Given the description of an element on the screen output the (x, y) to click on. 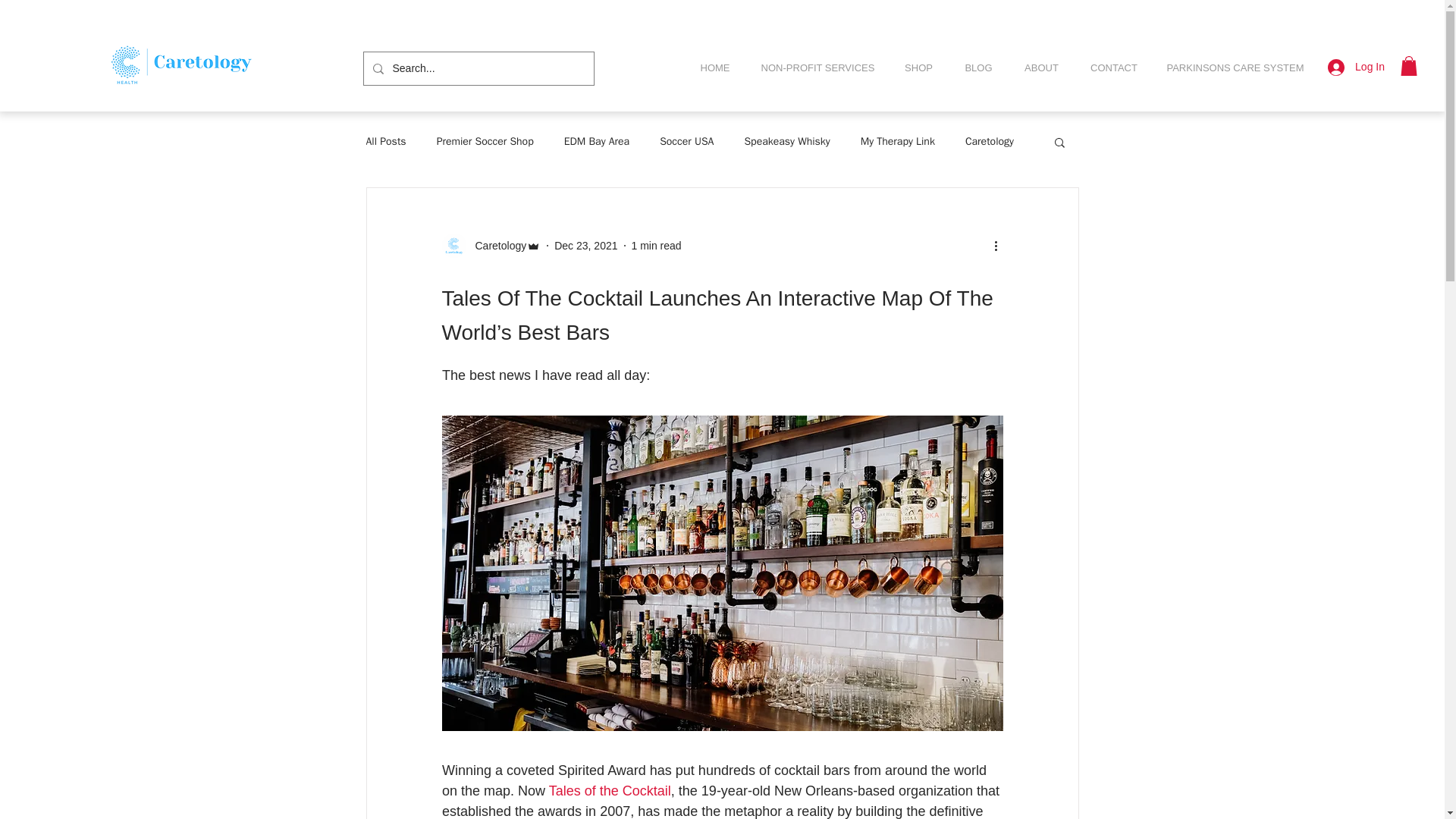
Caretology (495, 245)
Tales of the Cocktail (608, 790)
Log In (1355, 67)
EDM Bay Area (596, 141)
ABOUT (1041, 67)
1 min read (655, 245)
Dec 23, 2021 (585, 245)
My Therapy Link (897, 141)
CONTACT (1113, 67)
SHOP (918, 67)
NON-PROFIT SERVICES (817, 67)
Speakeasy Whisky (786, 141)
Caretology (989, 141)
Caretology (490, 245)
BLOG (979, 67)
